Given the description of an element on the screen output the (x, y) to click on. 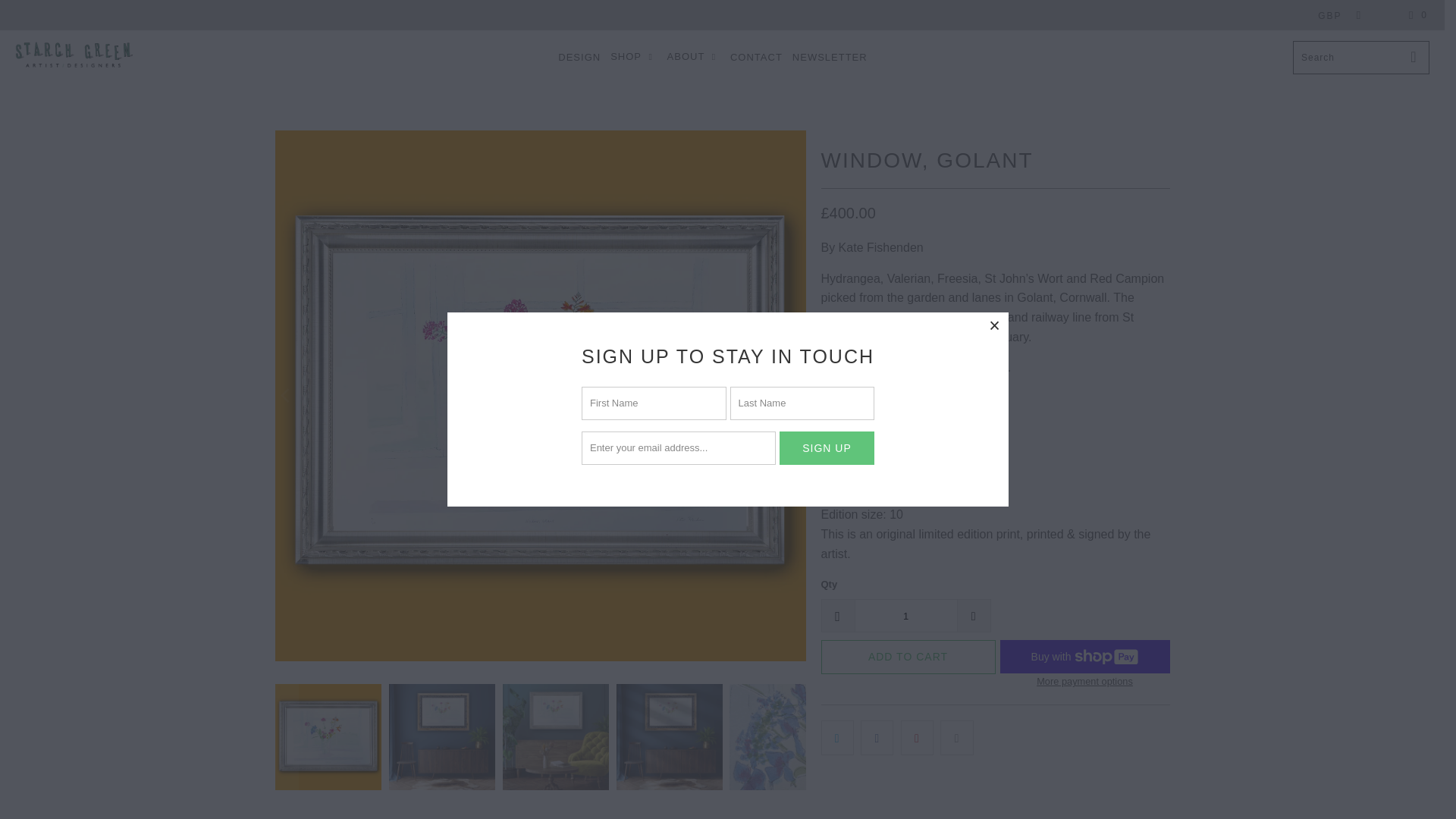
Share this on Pinterest (917, 737)
1 (904, 615)
Share this on Twitter (837, 737)
Email this to a friend (956, 737)
Sign Up (826, 448)
Share this on Facebook (876, 737)
Starch Green (73, 56)
